Given the description of an element on the screen output the (x, y) to click on. 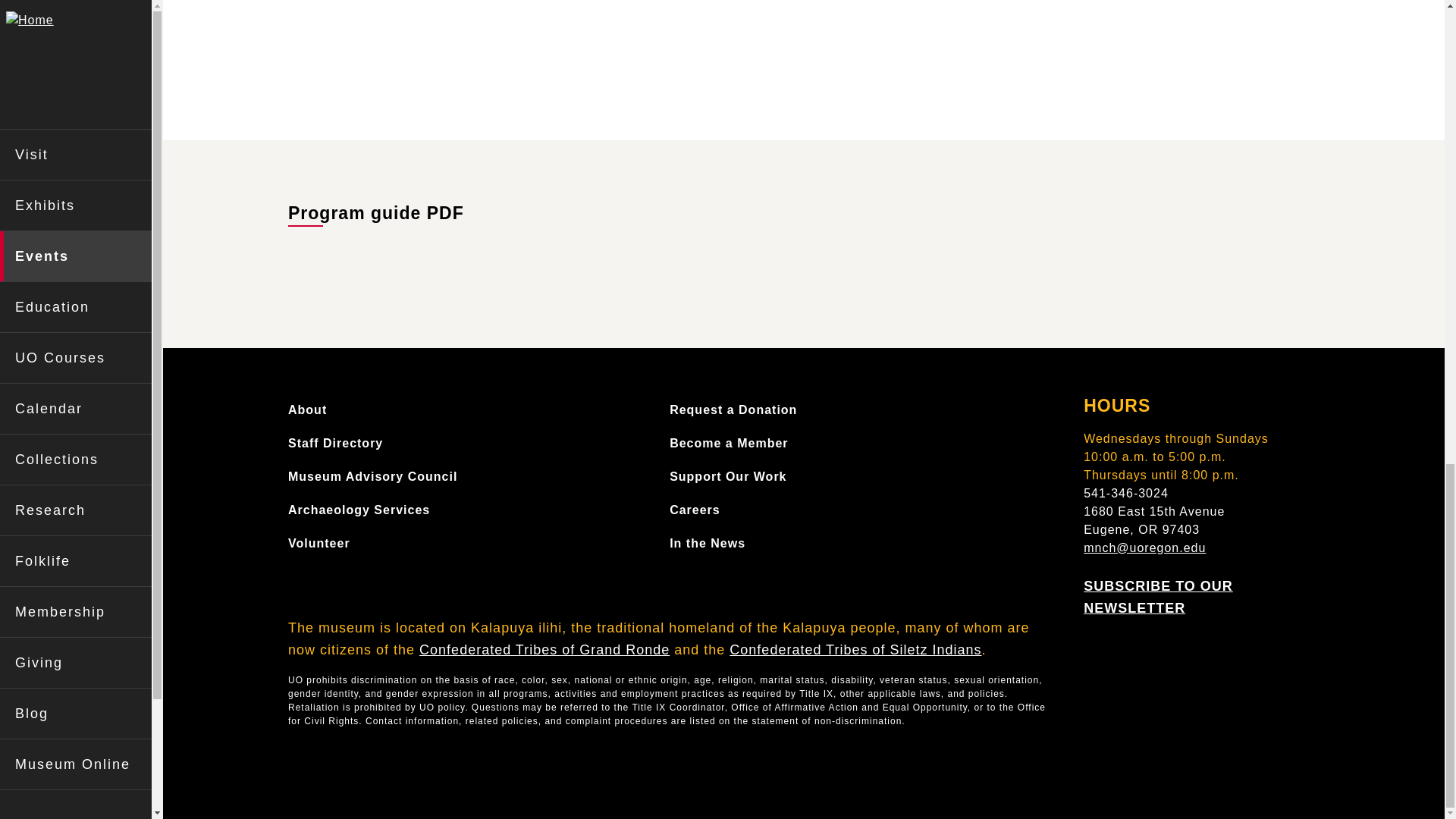
Request a Donation (732, 409)
Program guide PDF (376, 212)
Museum Advisory Council (372, 476)
Request a museum donation to your nonprofit or school  (732, 409)
Instagram (1136, 645)
SUBSCRIBE TO OUR NEWSLETTER (1158, 596)
In the News (707, 543)
Become a Member (728, 442)
Archaeology Services (358, 509)
Support Our Work (727, 476)
